Given the description of an element on the screen output the (x, y) to click on. 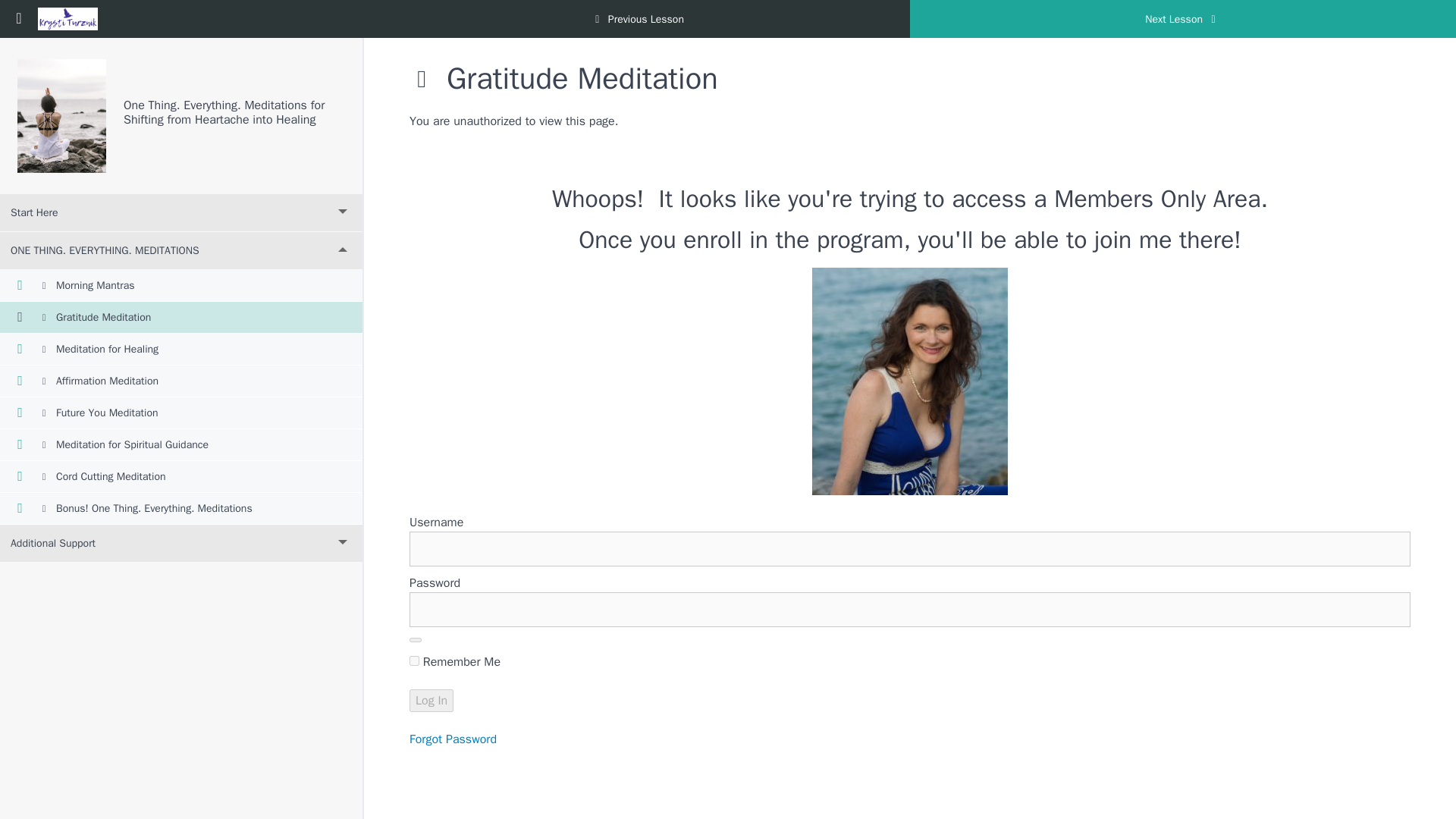
Forgot Password (452, 739)
Meditation for Healing (181, 349)
Cord Cutting Meditation (181, 477)
Log In (430, 700)
Affirmation Meditation (181, 381)
Gratitude Meditation (181, 317)
Future You Meditation (181, 413)
Meditation for Spiritual Guidance (181, 445)
forever (414, 660)
Log In (430, 700)
Morning Mantras (181, 286)
Bonus! One Thing. Everything. Meditations (181, 508)
